Given the description of an element on the screen output the (x, y) to click on. 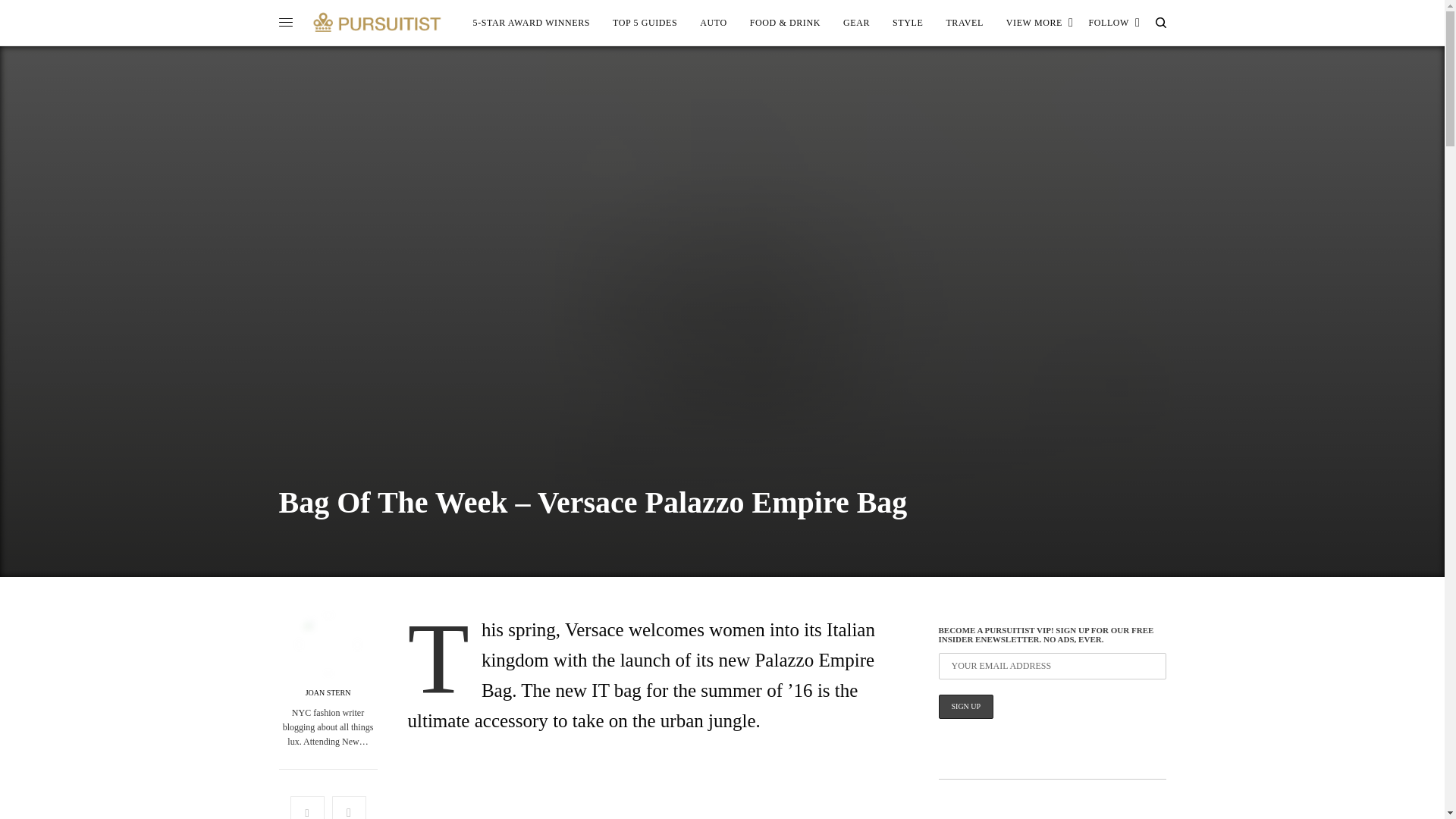
5-Star Pursuits (532, 22)
Sign up (966, 706)
5-STAR AWARD WINNERS (532, 22)
TOP 5 GUIDES (644, 22)
Pursuitist (376, 22)
JOAN STERN (328, 692)
FOLLOW (1113, 22)
VIEW MORE (1040, 22)
